Given the description of an element on the screen output the (x, y) to click on. 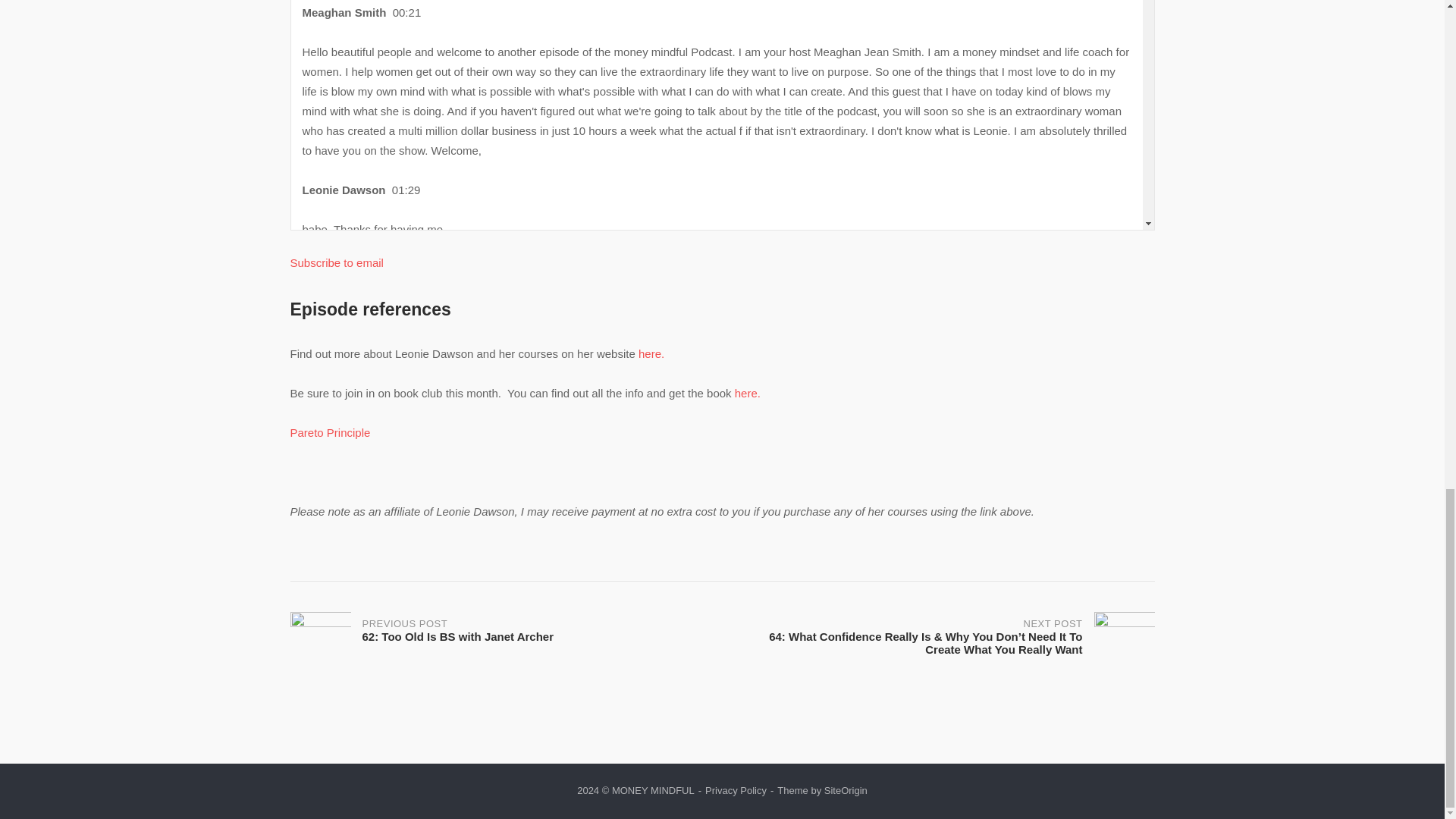
Pareto Principle (329, 431)
Privacy Policy (735, 790)
SiteOrigin (845, 790)
Subscribe to email (335, 262)
here. (651, 353)
here. (505, 641)
